Given the description of an element on the screen output the (x, y) to click on. 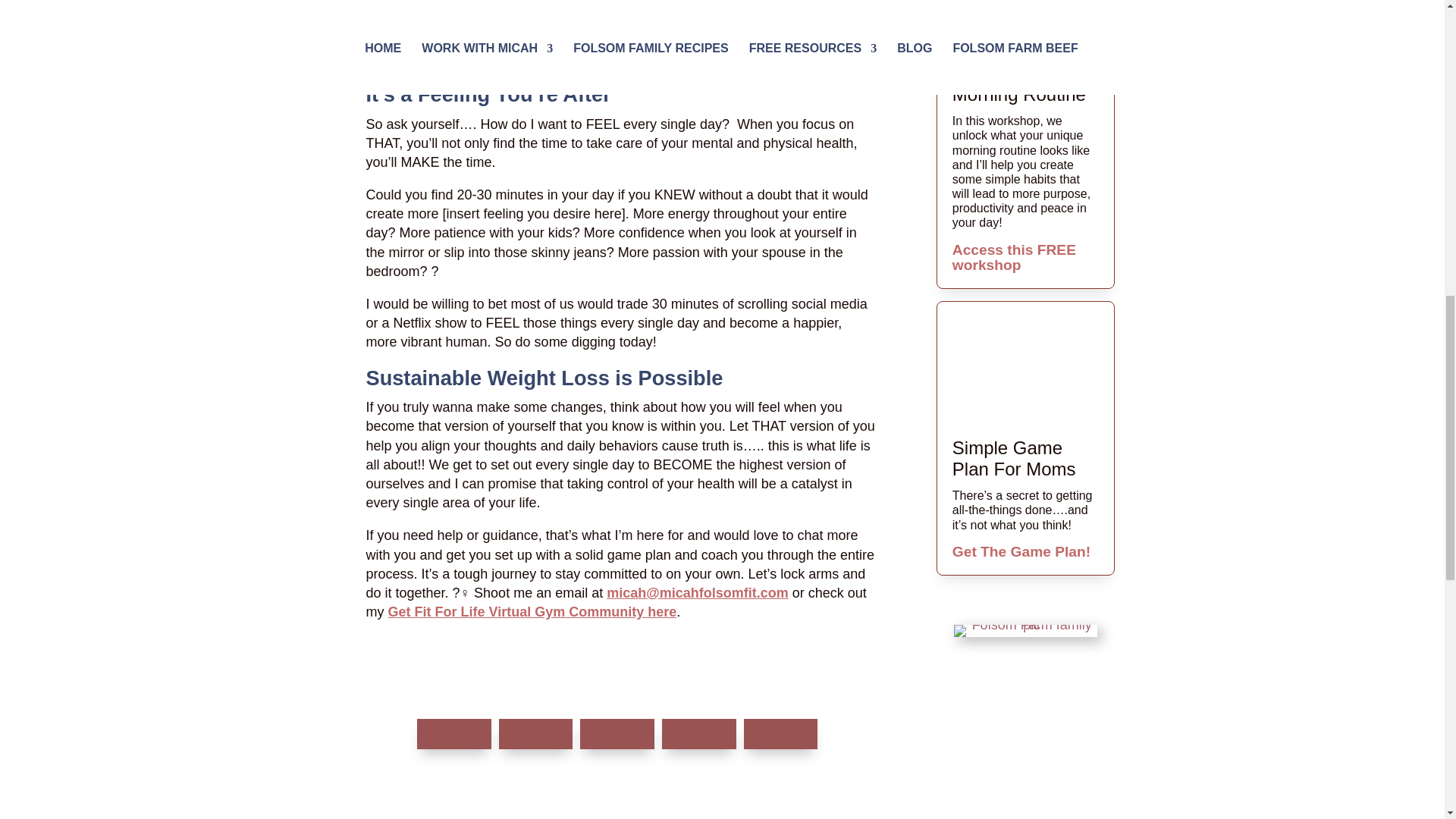
Get The Game Plan! (1021, 551)
FF Beef (1025, 630)
Access this FREE workshop (1013, 256)
Get Fit For Life Virtual Gym Community here (532, 611)
